Given the description of an element on the screen output the (x, y) to click on. 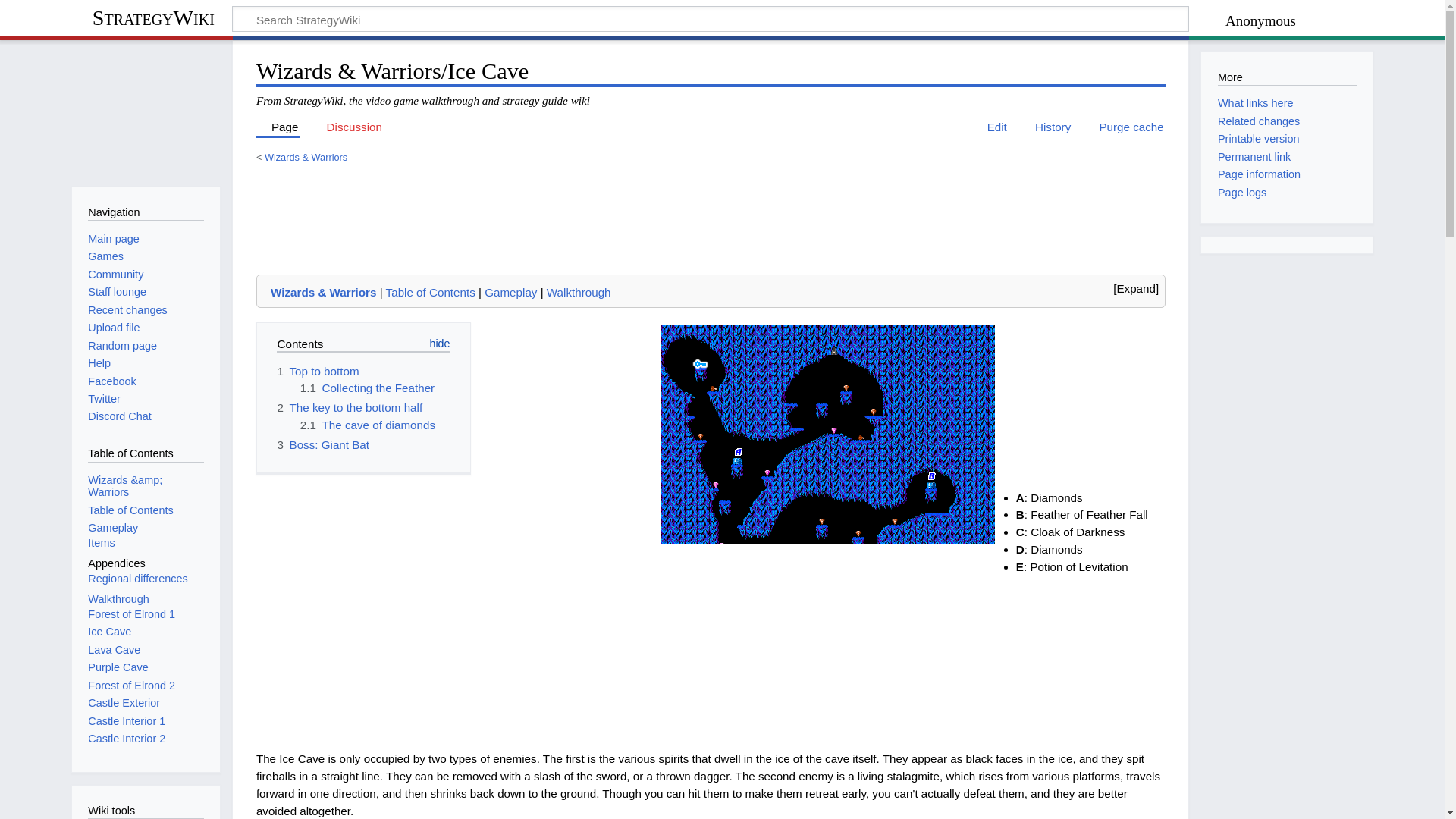
History (1045, 127)
Walkthrough (579, 291)
Go (1155, 21)
Edit (990, 127)
3 Boss: Giant Bat (322, 444)
Page (277, 127)
2 The key to the bottom half (349, 407)
Search the pages for this text (1155, 21)
Search (1155, 21)
Search (1155, 21)
2.1 The cave of diamonds (367, 424)
Table of Contents (430, 291)
Gameplay (510, 291)
1.1 Collecting the Feather (366, 387)
StrategyWiki (151, 19)
